Given the description of an element on the screen output the (x, y) to click on. 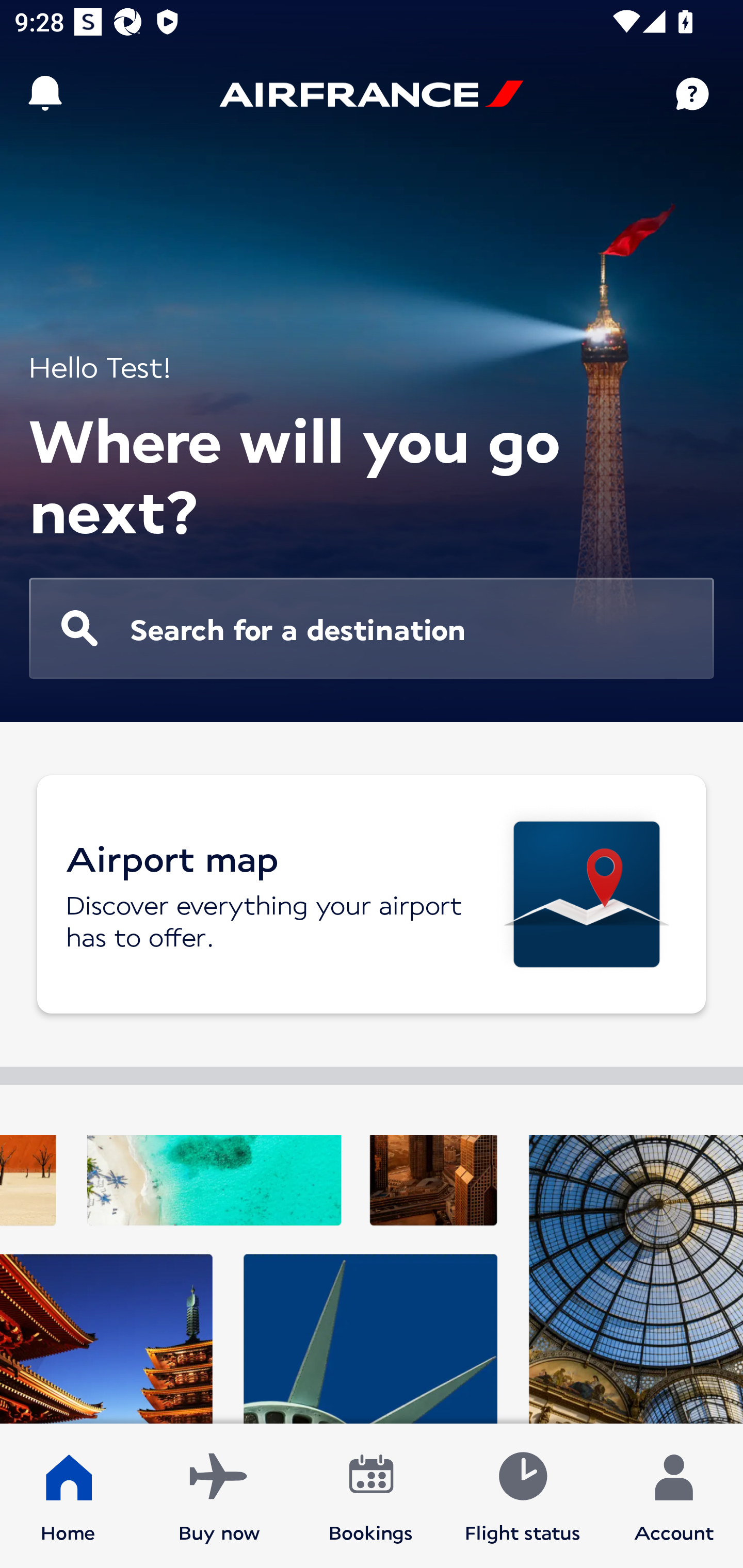
Search for a destination (371, 627)
Buy now (219, 1495)
Bookings (370, 1495)
Flight status (522, 1495)
Account (674, 1495)
